Given the description of an element on the screen output the (x, y) to click on. 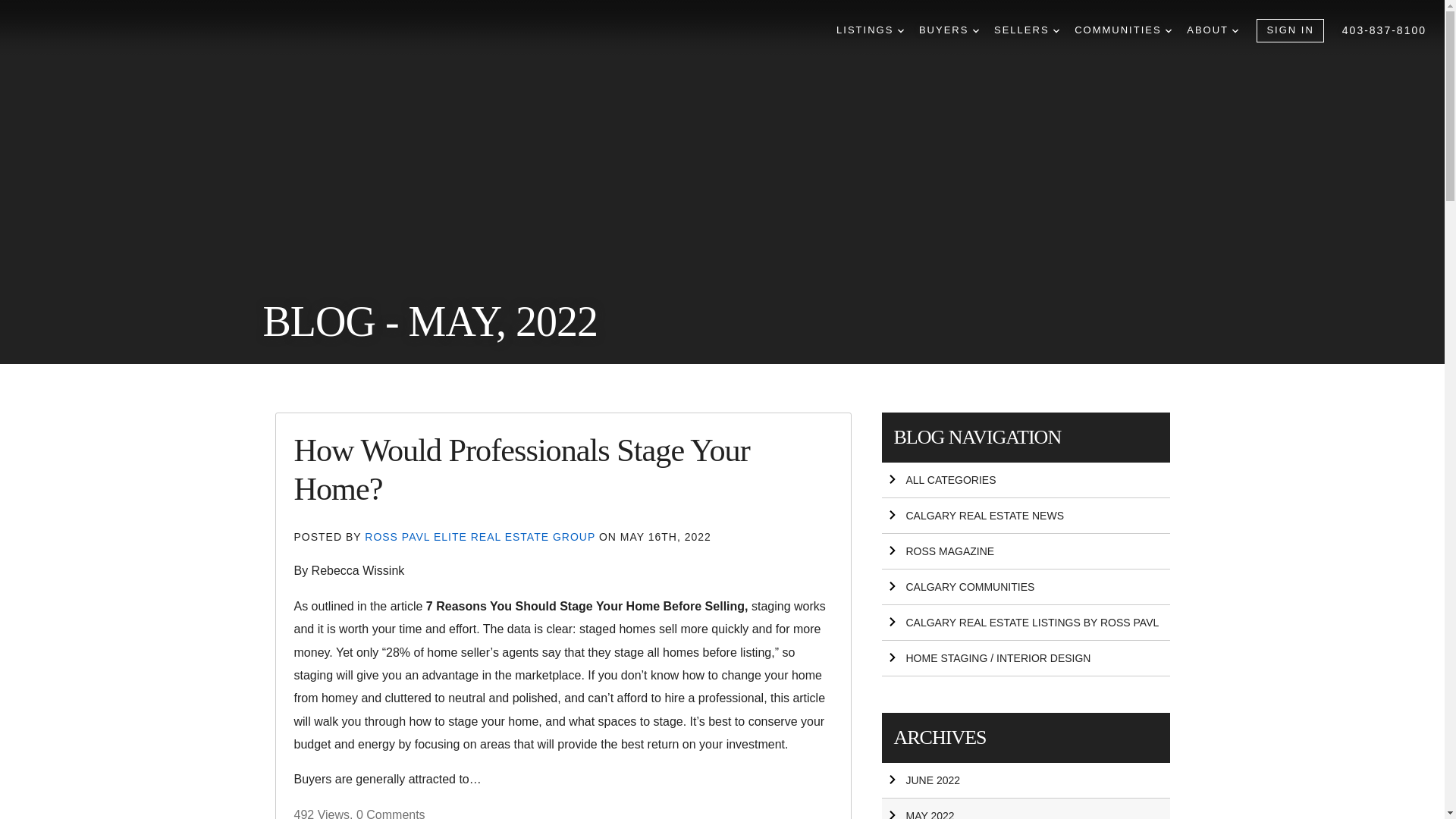
DROPDOWN ARROW (975, 30)
SELLERS DROPDOWN ARROW (1026, 30)
403-837-8100 (1384, 29)
ABOUT DROPDOWN ARROW (1212, 30)
DROPDOWN ARROW (1169, 30)
SIGN IN (1289, 30)
ROSS PAVL ELITE REAL ESTATE GROUP (481, 536)
How Would Professionals Stage Your Home? (521, 469)
DROPDOWN ARROW (1055, 30)
DROPDOWN ARROW (1235, 30)
DROPDOWN ARROW (901, 30)
BUYERS DROPDOWN ARROW (948, 30)
LISTINGS DROPDOWN ARROW (869, 30)
COMMUNITIES DROPDOWN ARROW (1123, 30)
